Given the description of an element on the screen output the (x, y) to click on. 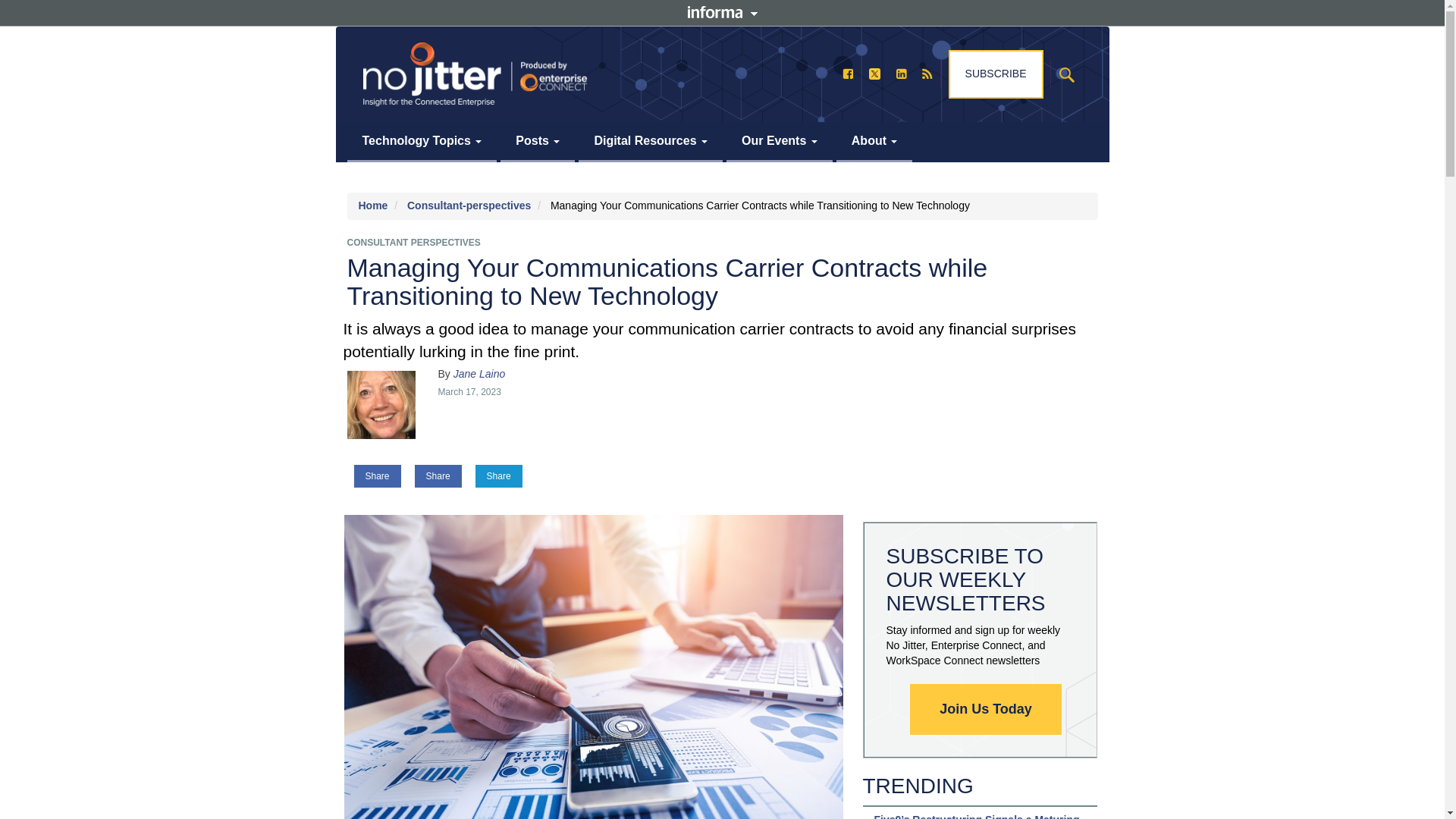
No Jitter RSS feed (927, 73)
Find No Jitter on LinkedIn (901, 73)
No Jitter RSS feed (927, 73)
Find No Jitter on Facebook (847, 73)
Digital Resources (650, 142)
Find No Jitter on LinkedIn (901, 73)
Technology Topics (422, 142)
No Jitter - Home (475, 74)
